Given the description of an element on the screen output the (x, y) to click on. 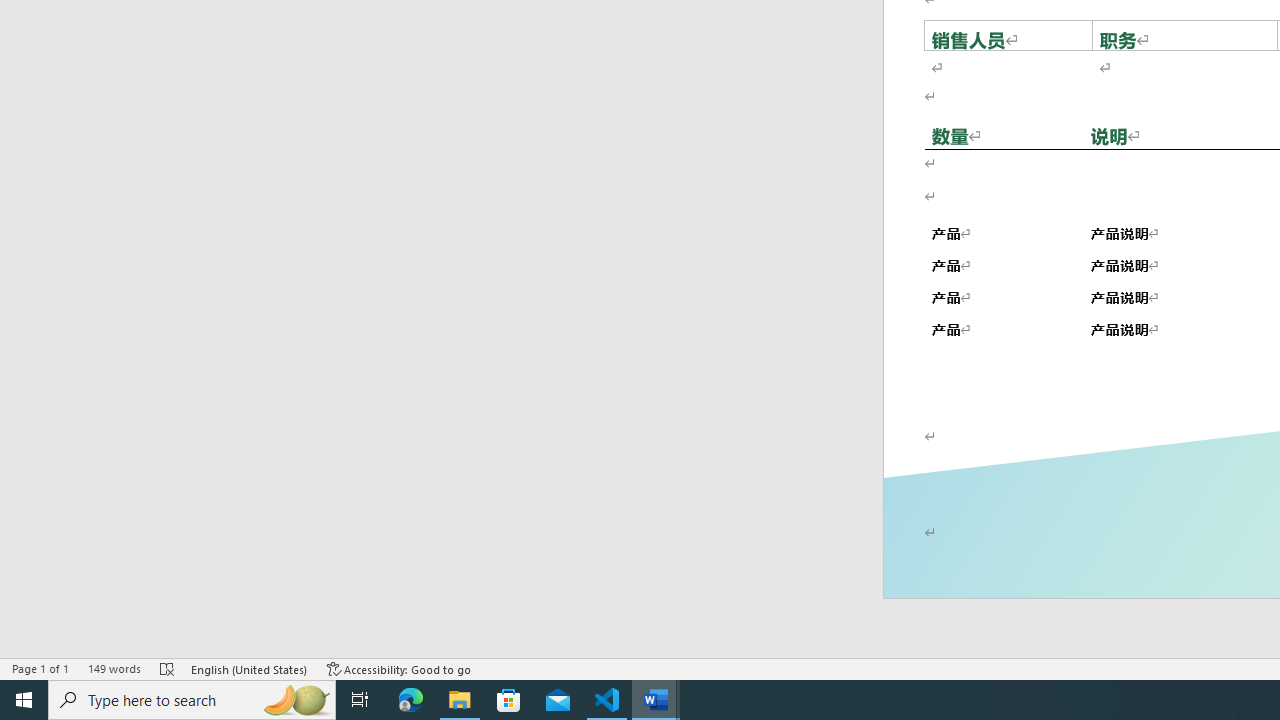
Language English (United States) (250, 668)
Page Number Page 1 of 1 (39, 668)
Accessibility Checker Accessibility: Good to go (399, 668)
Spelling and Grammar Check Errors (168, 668)
